Given the description of an element on the screen output the (x, y) to click on. 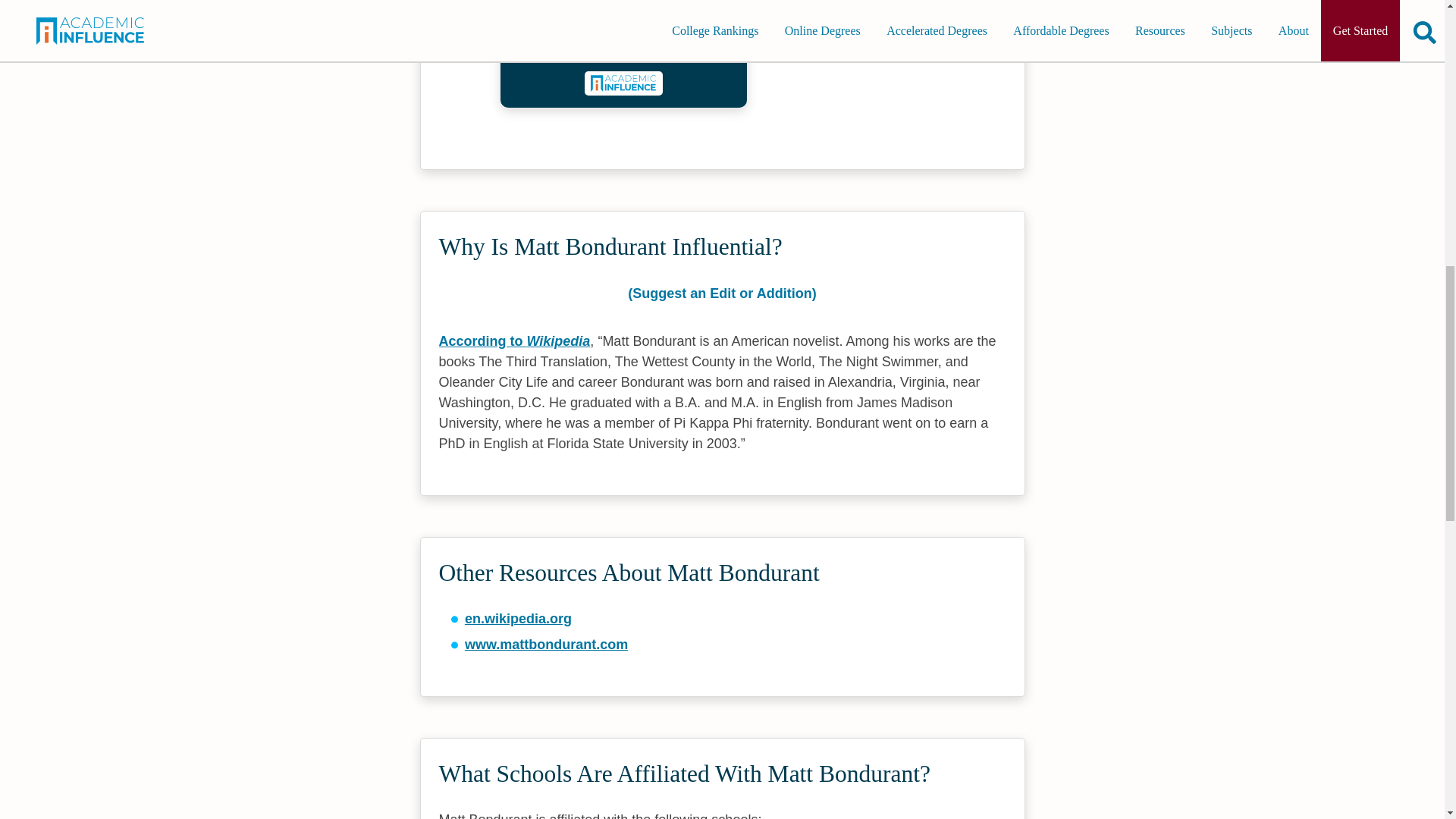
Literature Degrees (623, 48)
en.wikipedia.org (518, 618)
www.mattbondurant.com (545, 644)
According to Wikipedia (513, 340)
